Given the description of an element on the screen output the (x, y) to click on. 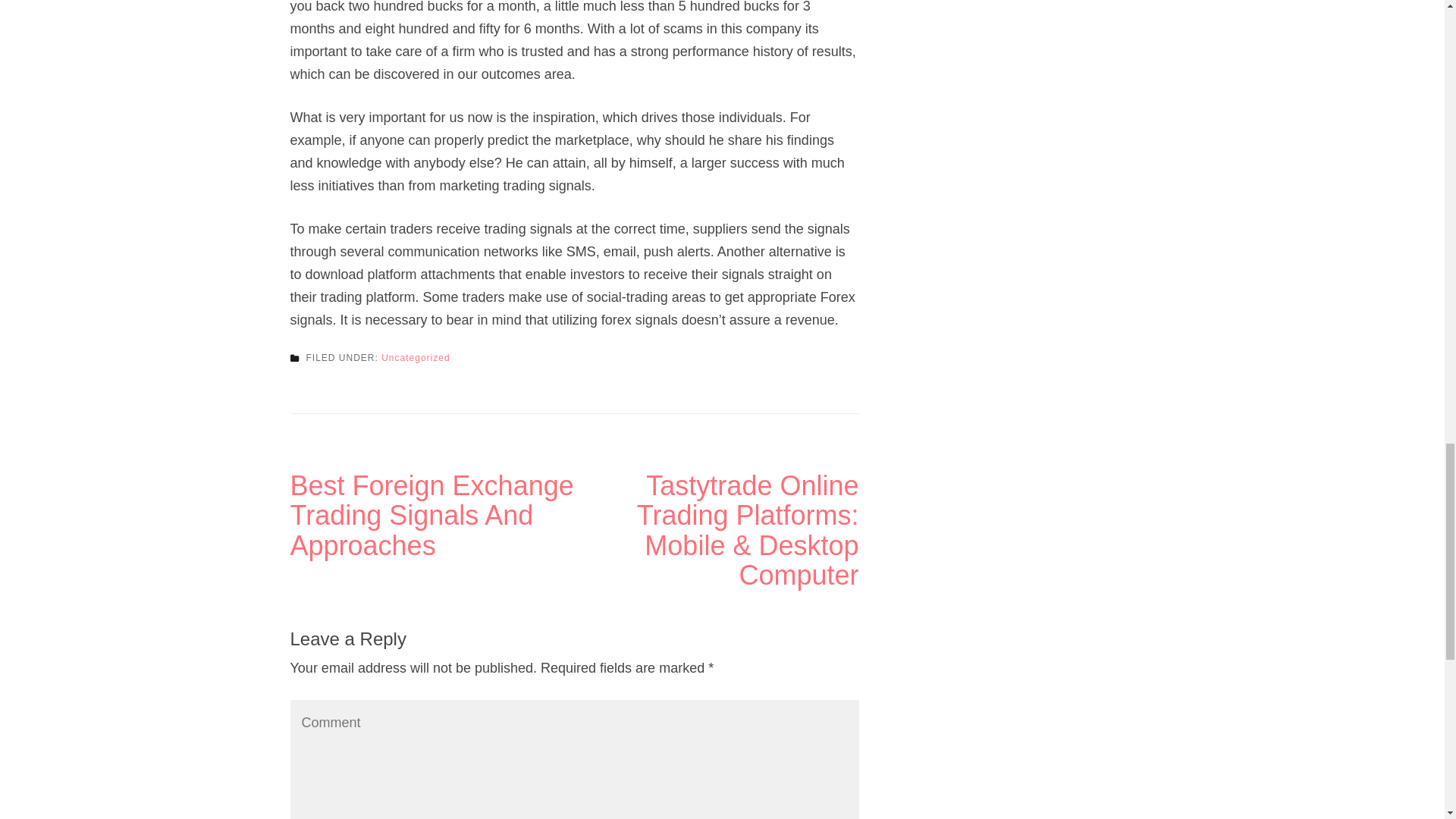
Uncategorized (415, 357)
Best Foreign Exchange Trading Signals And Approaches (431, 515)
